Given the description of an element on the screen output the (x, y) to click on. 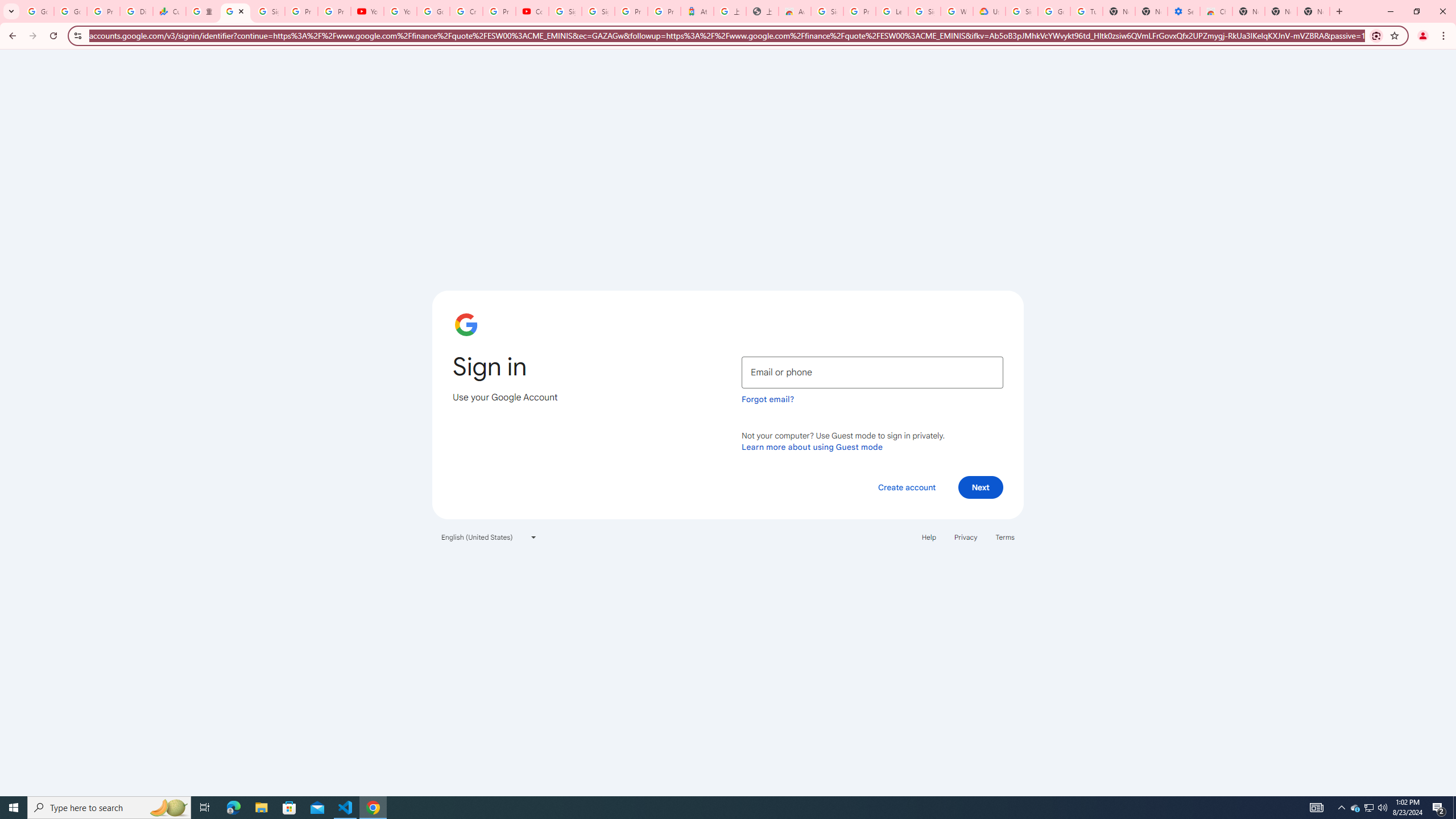
Turn cookies on or off - Computer - Google Account Help (1086, 11)
Next (980, 486)
Content Creator Programs & Opportunities - YouTube Creators (532, 11)
Create your Google Account (465, 11)
Sign in - Google Accounts (924, 11)
Chrome Web Store - Accessibility extensions (1216, 11)
